Given the description of an element on the screen output the (x, y) to click on. 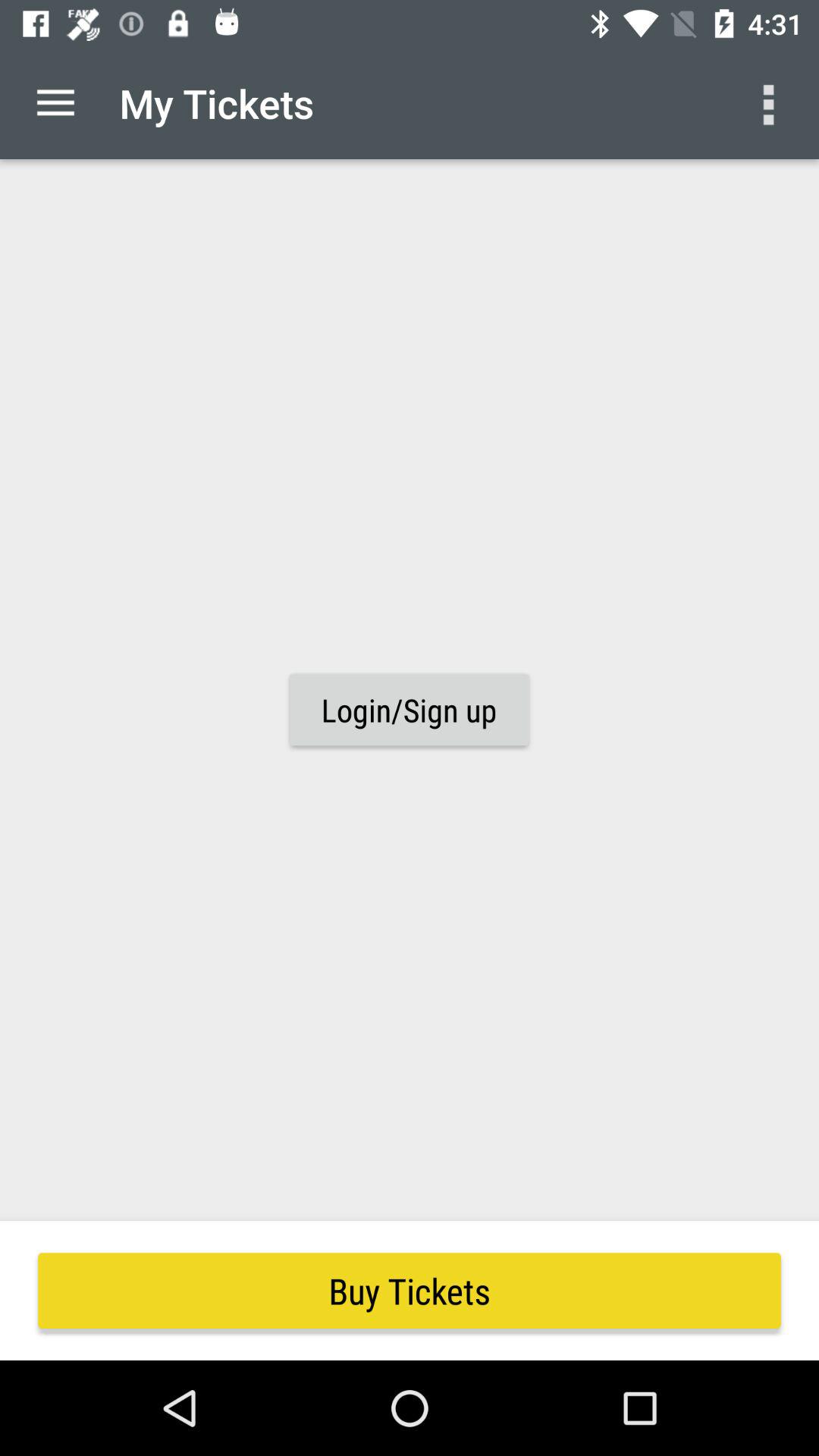
scroll to the buy tickets (409, 1290)
